Given the description of an element on the screen output the (x, y) to click on. 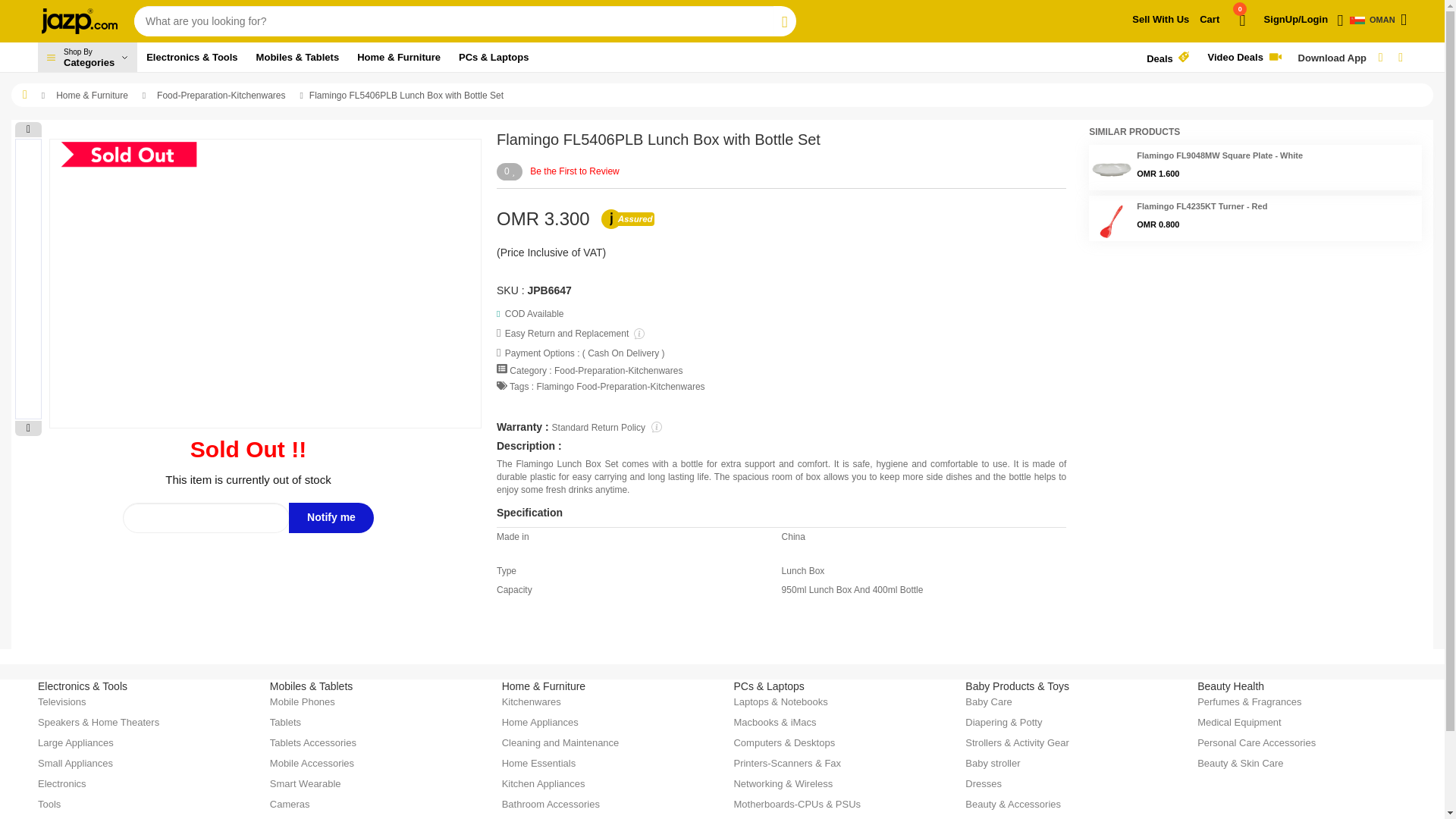
Notify me (331, 517)
Sell With Us (1160, 19)
Shop By Categories (86, 57)
Deals (86, 57)
OMAN (1167, 57)
Video Deals (1224, 25)
